Given the description of an element on the screen output the (x, y) to click on. 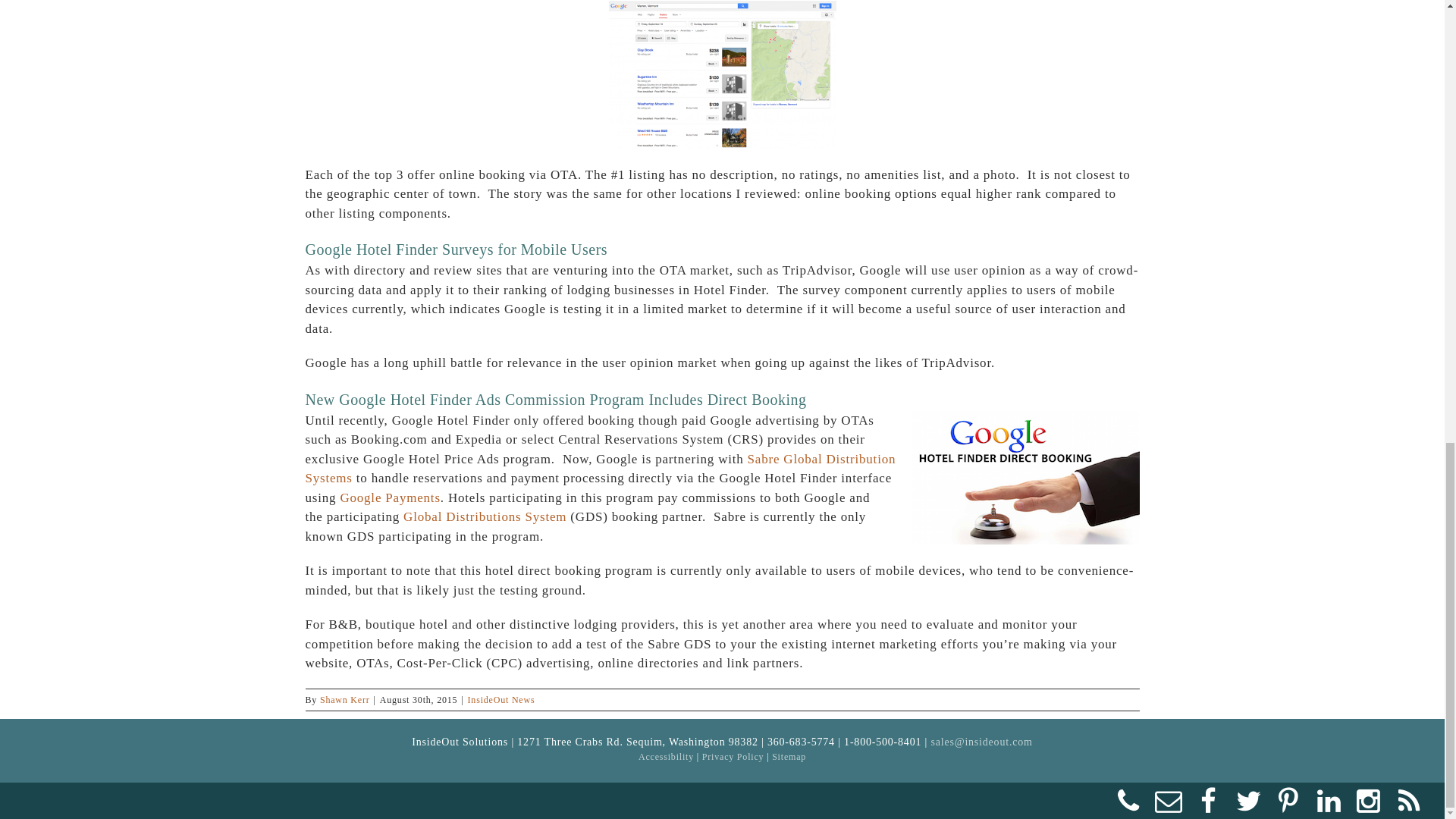
Posts by Shawn Kerr (344, 698)
